Given the description of an element on the screen output the (x, y) to click on. 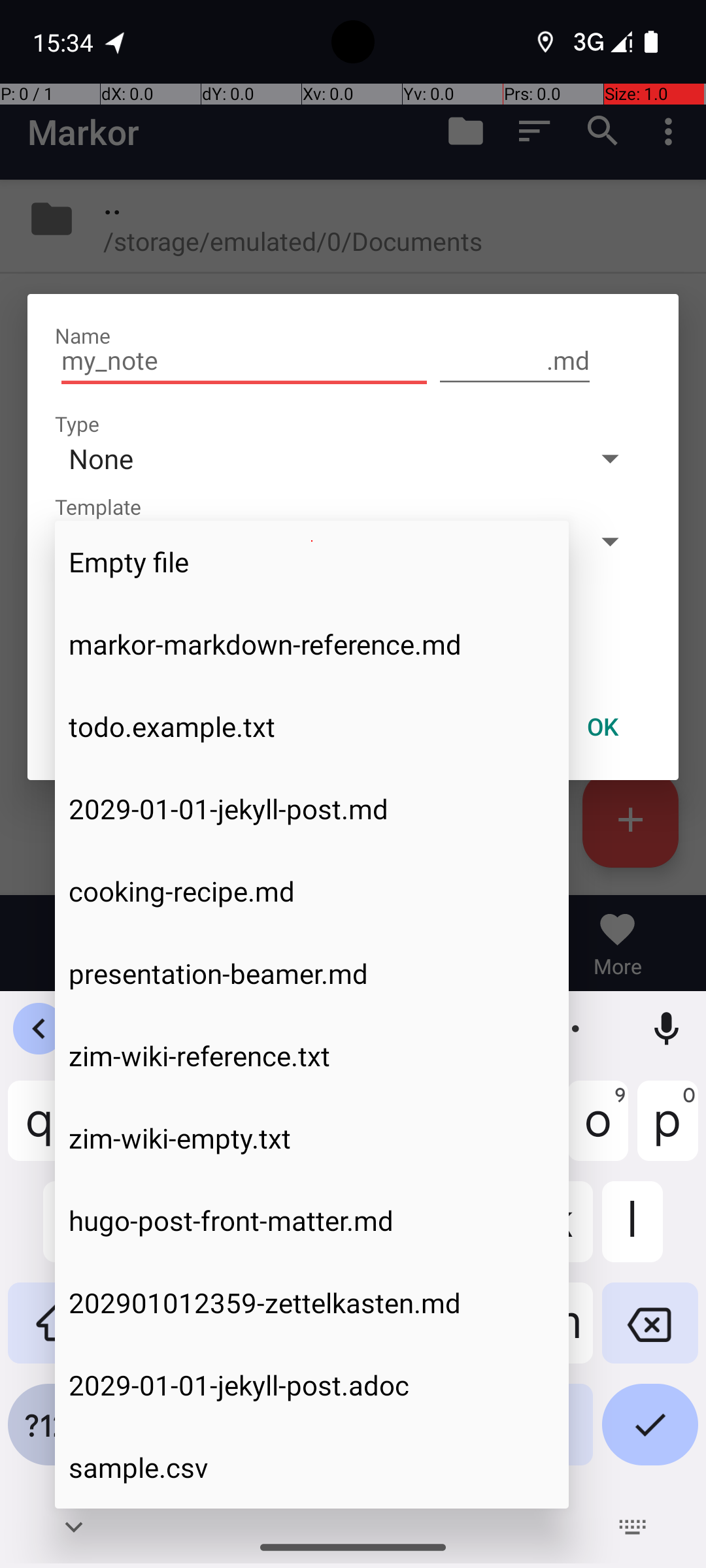
markor-markdown-reference.md Element type: android.widget.CheckedTextView (311, 644)
todo.example.txt Element type: android.widget.CheckedTextView (311, 726)
2029-01-01-jekyll-post.md Element type: android.widget.CheckedTextView (311, 808)
cooking-recipe.md Element type: android.widget.CheckedTextView (311, 890)
presentation-beamer.md Element type: android.widget.CheckedTextView (311, 973)
zim-wiki-reference.txt Element type: android.widget.CheckedTextView (311, 1055)
zim-wiki-empty.txt Element type: android.widget.CheckedTextView (311, 1137)
hugo-post-front-matter.md Element type: android.widget.CheckedTextView (311, 1220)
202901012359-zettelkasten.md Element type: android.widget.CheckedTextView (311, 1302)
2029-01-01-jekyll-post.adoc Element type: android.widget.CheckedTextView (311, 1384)
sample.csv Element type: android.widget.CheckedTextView (311, 1467)
